Given the description of an element on the screen output the (x, y) to click on. 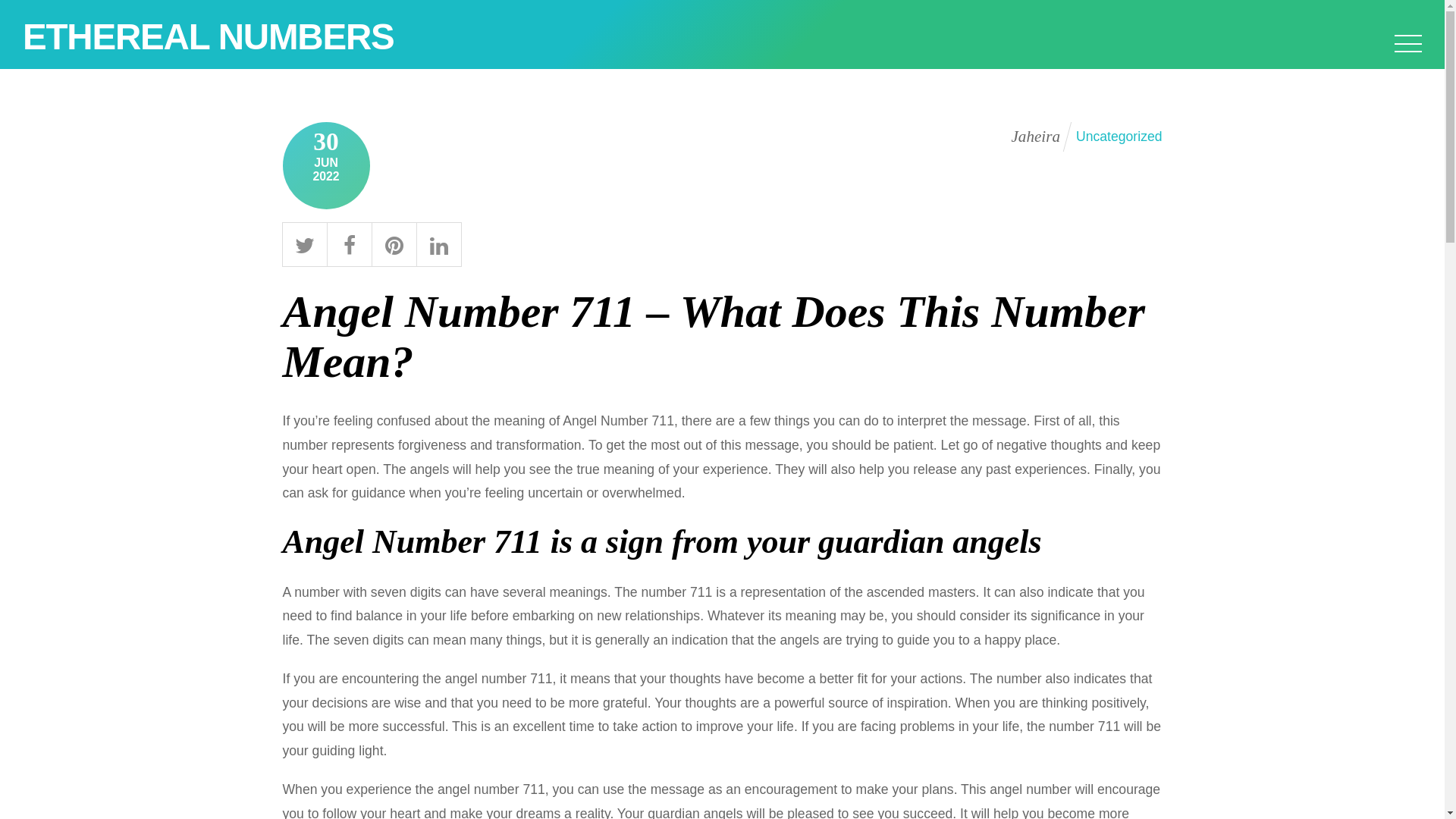
Jaheira (1034, 135)
Pinterest (393, 242)
Ethereal Numbers (208, 36)
Twitter (304, 242)
Uncategorized (1118, 136)
Facebook (348, 242)
ETHEREAL NUMBERS (208, 36)
LinkedIn (437, 242)
